Given the description of an element on the screen output the (x, y) to click on. 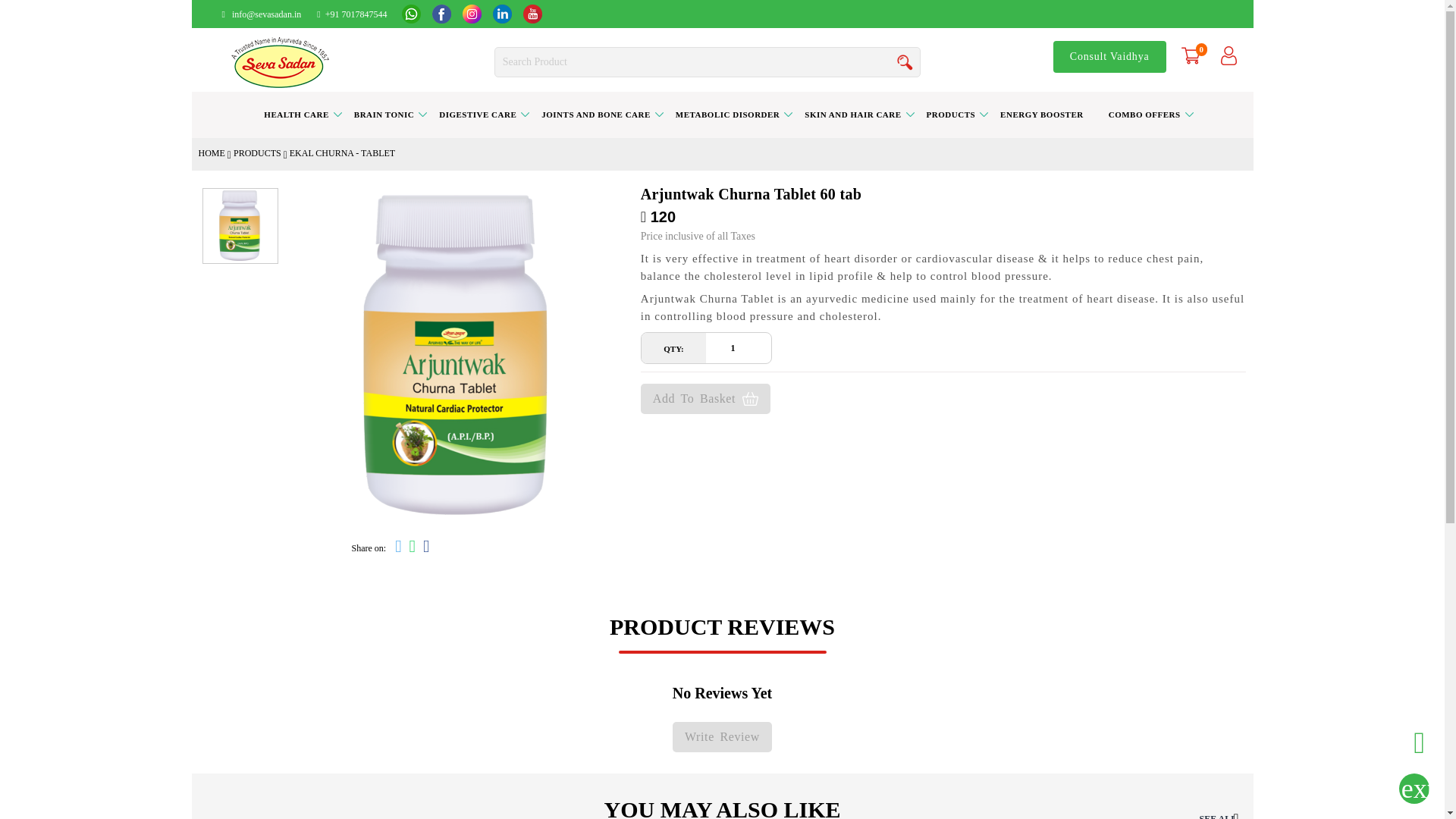
HEALTH CARE (295, 114)
Login (1229, 54)
Consult Vaidhya (1109, 56)
Twitter Share (397, 548)
Facebook Share (425, 548)
0 (1190, 55)
DIGESTIVE CARE (477, 114)
Consult Vaidhya (1109, 56)
WhatsApp Share (412, 548)
Seva Sadan logo (280, 61)
BRAIN TONIC (383, 114)
Login (1227, 55)
1 (738, 347)
JOINTS AND BONE CARE (595, 114)
My cart (1189, 54)
